Given the description of an element on the screen output the (x, y) to click on. 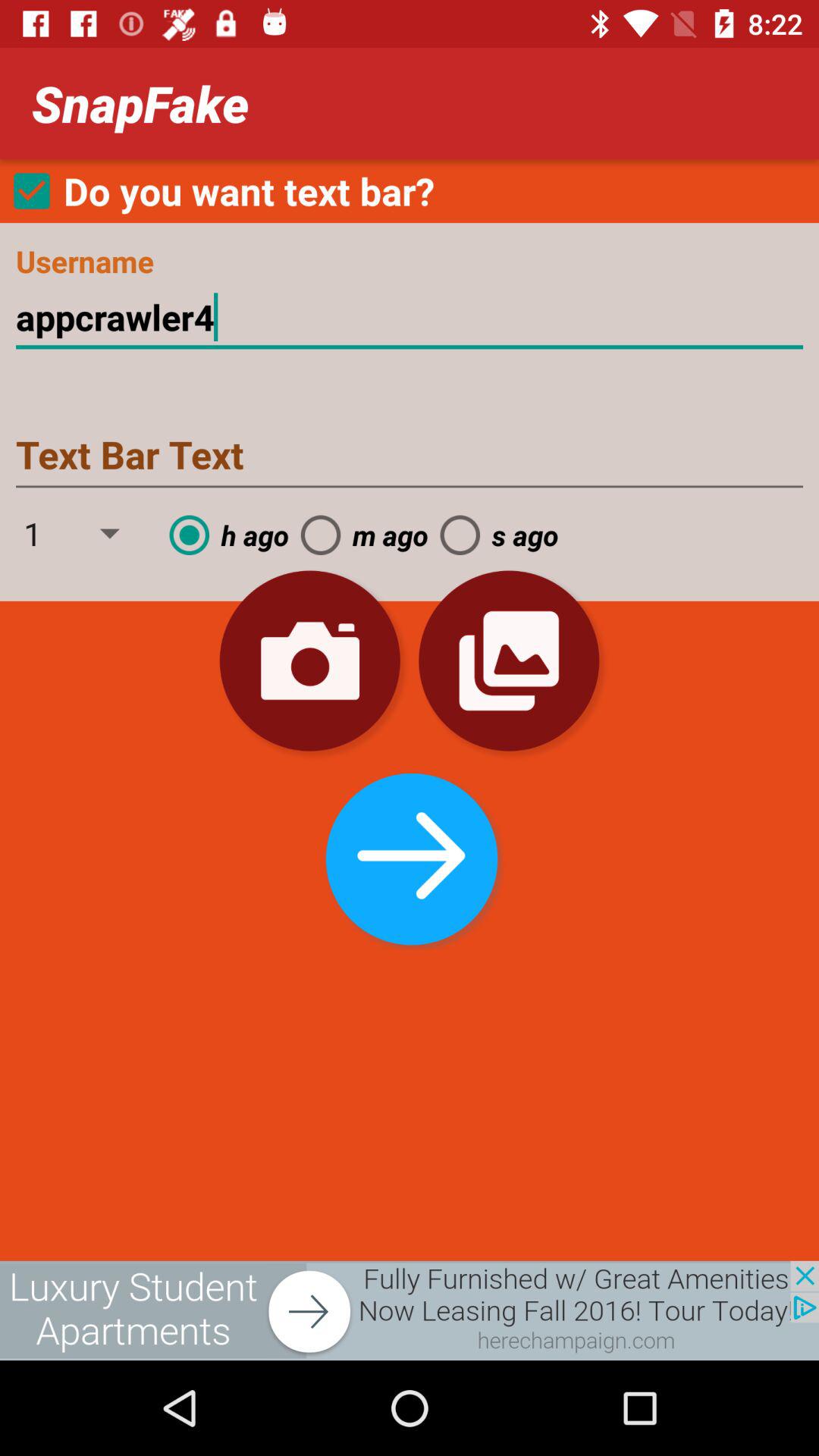
text box (409, 456)
